Given the description of an element on the screen output the (x, y) to click on. 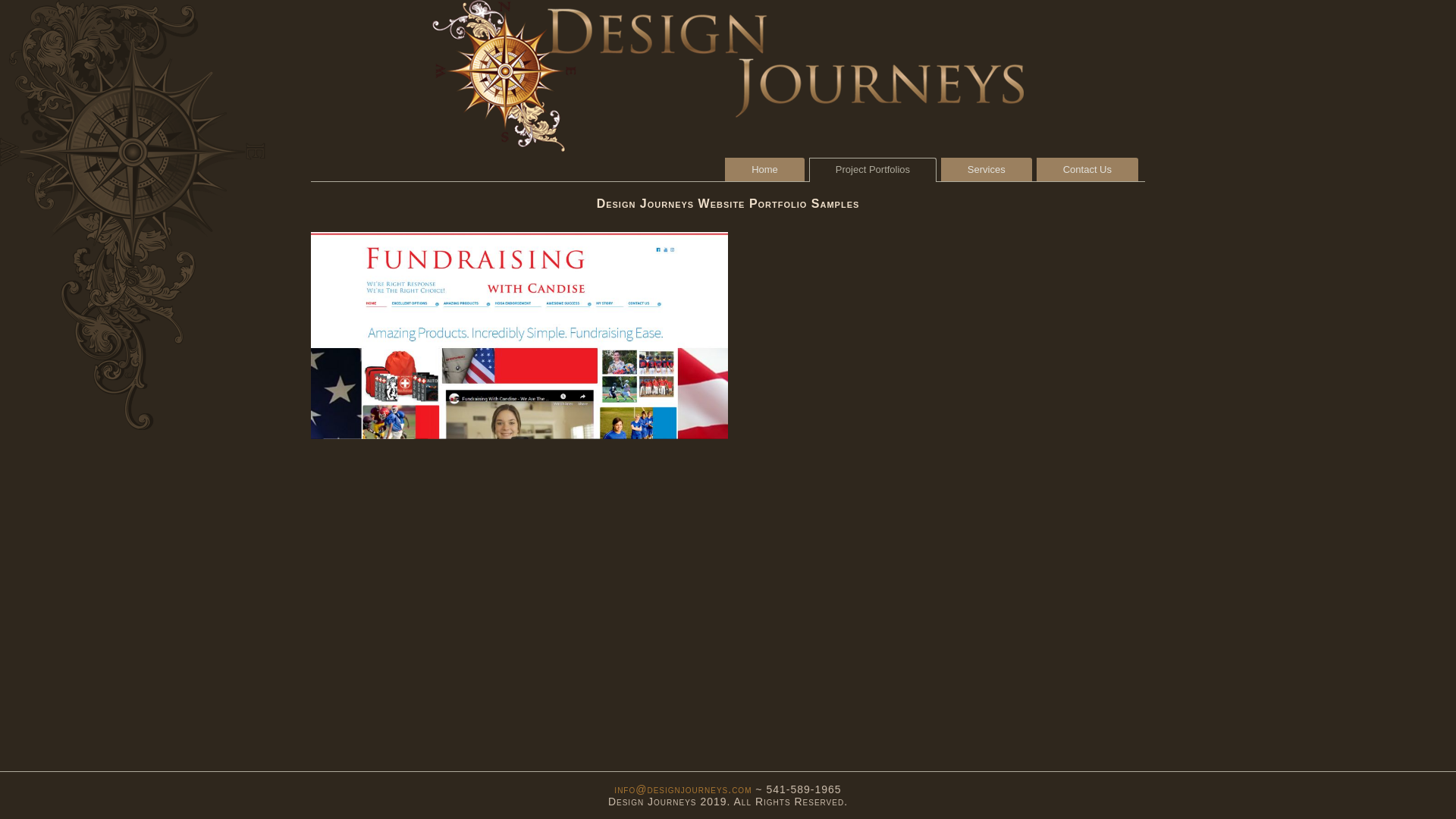
Welcome to Design Journeys (727, 75)
Services (986, 169)
Contact Us (1087, 169)
Project Portfolios (872, 169)
Home (765, 169)
